Given the description of an element on the screen output the (x, y) to click on. 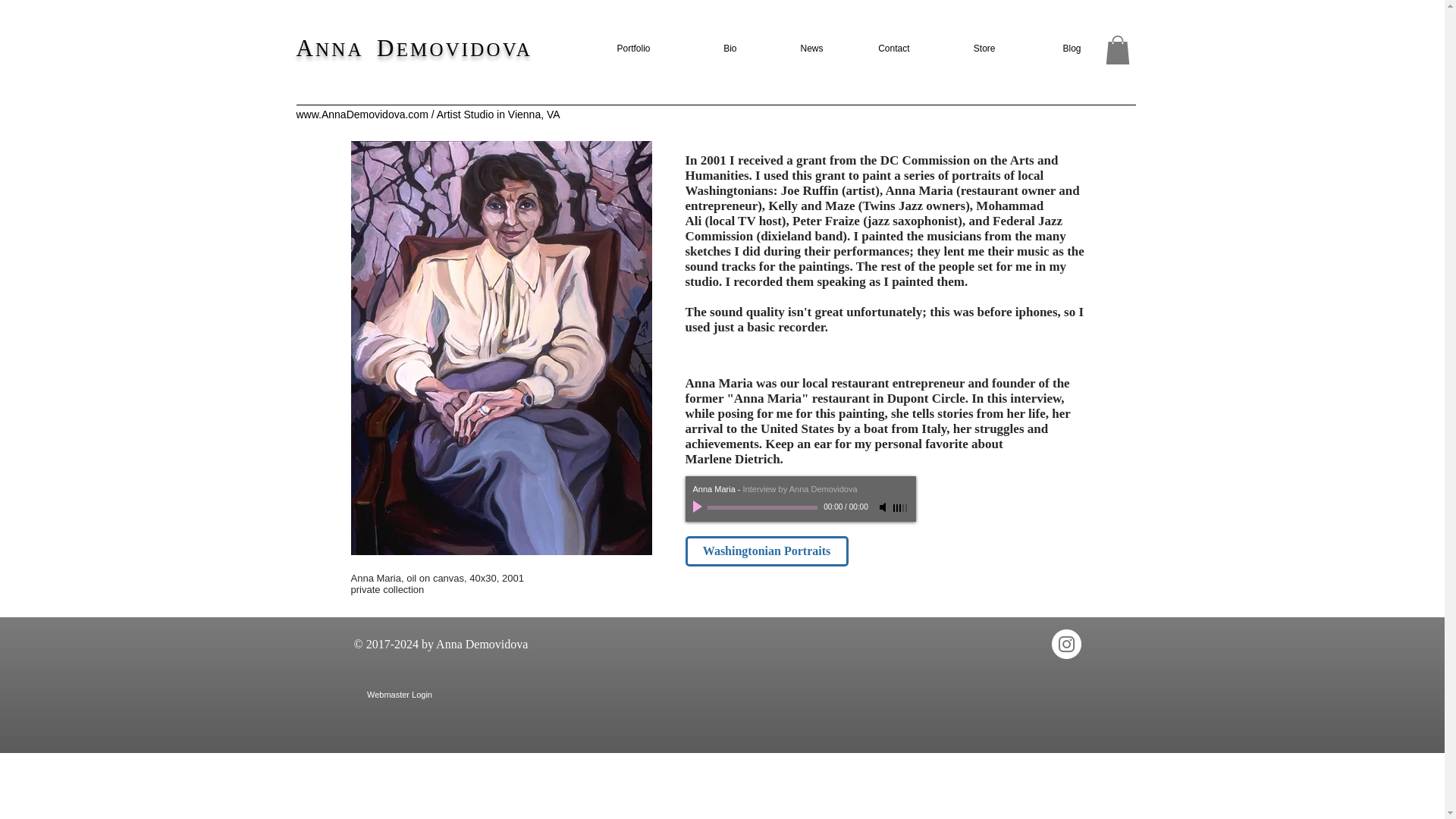
Blog (1050, 48)
Contact (877, 48)
NNA  (346, 49)
News (791, 48)
Washingtonian Portraits (766, 551)
0 (761, 507)
Bio (704, 48)
EMOVIDOVA (464, 49)
www.AnnaDemovidova.com (361, 114)
Webmaster Login (399, 694)
Portfolio (618, 48)
Store (963, 48)
